Given the description of an element on the screen output the (x, y) to click on. 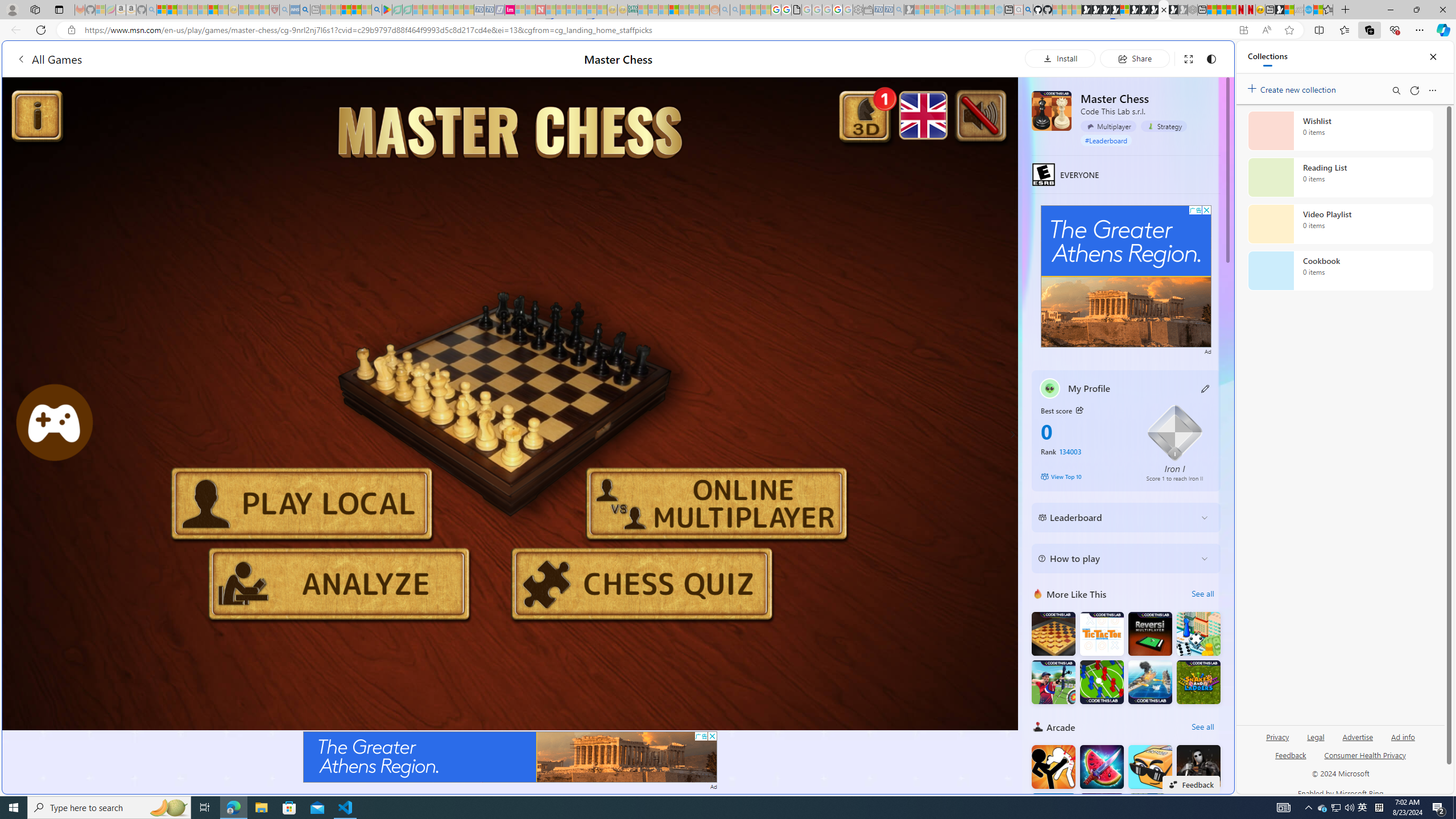
Services - Maintenance | Sky Blue Bikes - Sky Blue Bikes (1307, 9)
github - Search (1028, 9)
Frequently visited (965, 151)
Snakes and Ladders (1198, 681)
Kinda Frugal - MSN - Sleeping (684, 9)
Close split screen (1208, 57)
Class: control (1011, 434)
World - MSN (727, 389)
